Given the description of an element on the screen output the (x, y) to click on. 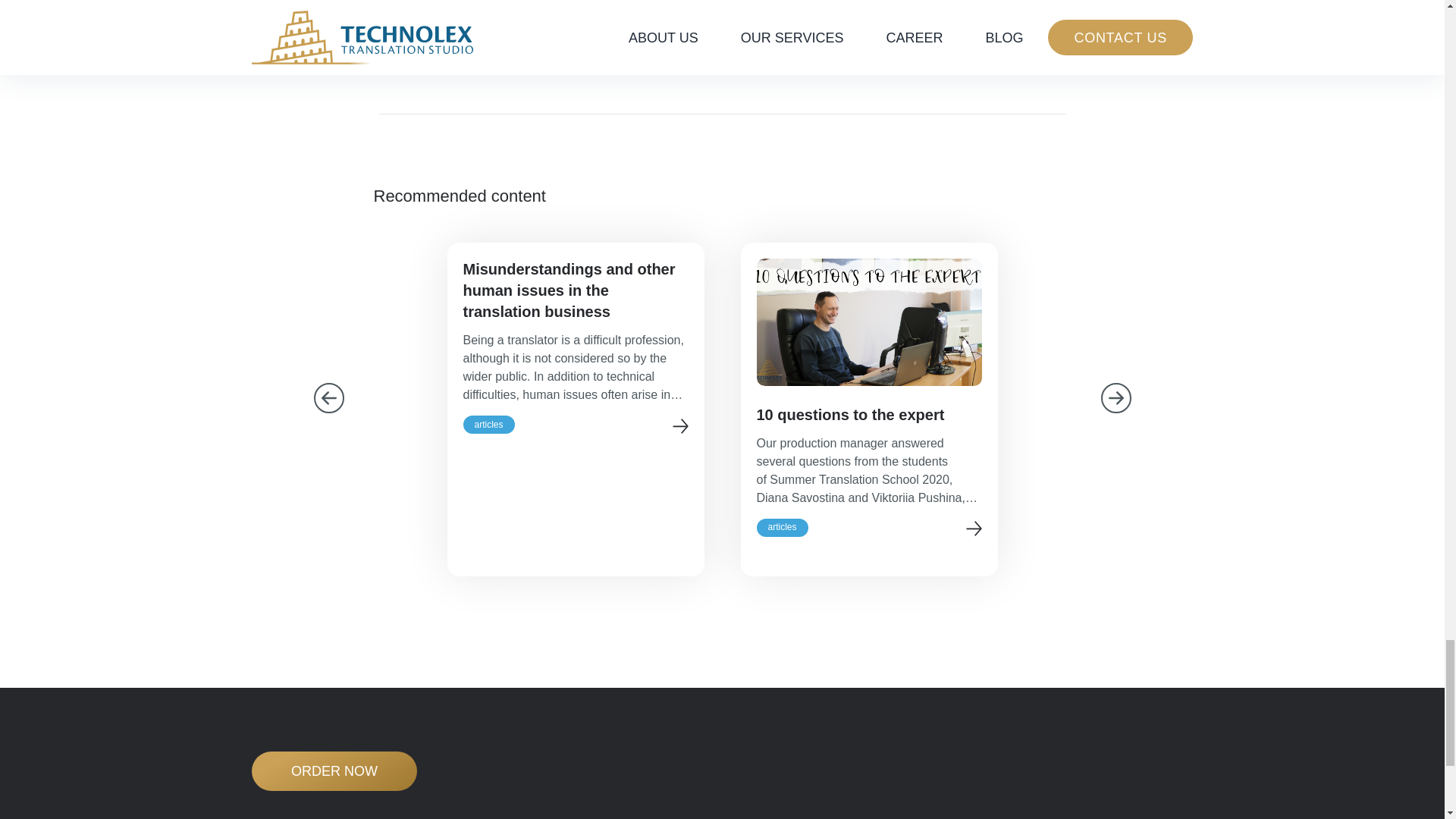
10 questions to the expert (869, 414)
